Given the description of an element on the screen output the (x, y) to click on. 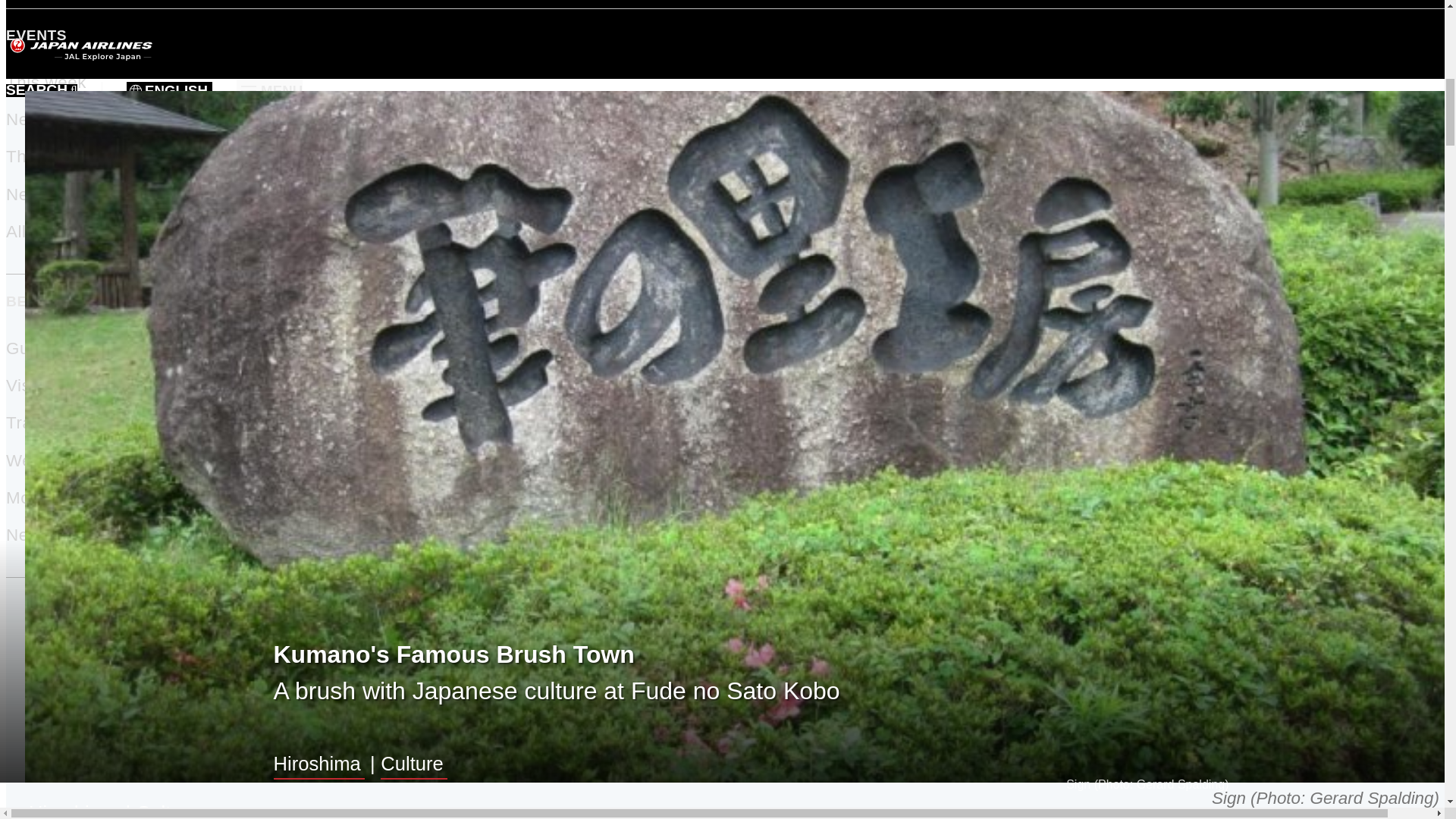
All events (44, 230)
This month (49, 156)
News (27, 534)
Next month (51, 194)
JAPAN MAP (727, 629)
Transportation (62, 422)
Guides (33, 348)
Visas (27, 384)
Next week (46, 118)
Money (32, 497)
This week (45, 81)
Weather (38, 460)
